Given the description of an element on the screen output the (x, y) to click on. 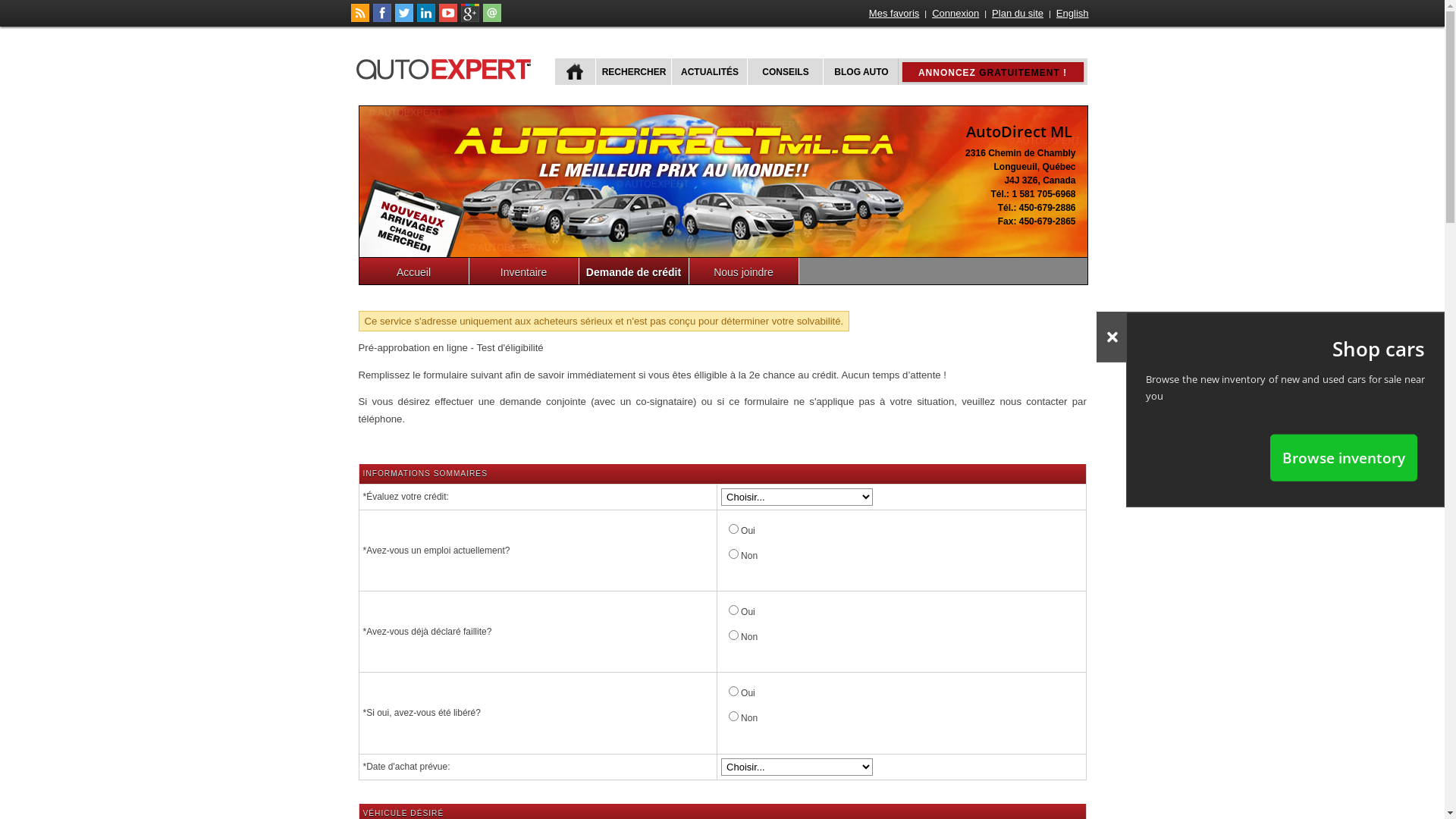
Suivez autoExpert.ca sur Facebook Element type: hover (382, 18)
Accueil Element type: text (414, 270)
Plan du site Element type: text (1017, 13)
RECHERCHER Element type: text (631, 71)
Suivez autoExpert.ca sur Youtube Element type: hover (447, 18)
autoExpert.ca Element type: text (446, 66)
Browse inventory Element type: text (1343, 457)
Nous joindre Element type: text (743, 270)
ACCUEIL Element type: text (575, 71)
Mes favoris Element type: text (893, 13)
Connexion Element type: text (955, 13)
ANNONCEZ GRATUITEMENT ! Element type: text (992, 71)
English Element type: text (1072, 13)
Suivez autoExpert.ca sur Google Plus Element type: hover (470, 18)
Suivez Publications Le Guide Inc. sur LinkedIn Element type: hover (426, 18)
BLOG AUTO Element type: text (859, 71)
Inventaire Element type: text (523, 270)
Joindre autoExpert.ca Element type: hover (491, 18)
CONSEILS Element type: text (783, 71)
Suivez autoExpert.ca sur Twitter Element type: hover (403, 18)
